Given the description of an element on the screen output the (x, y) to click on. 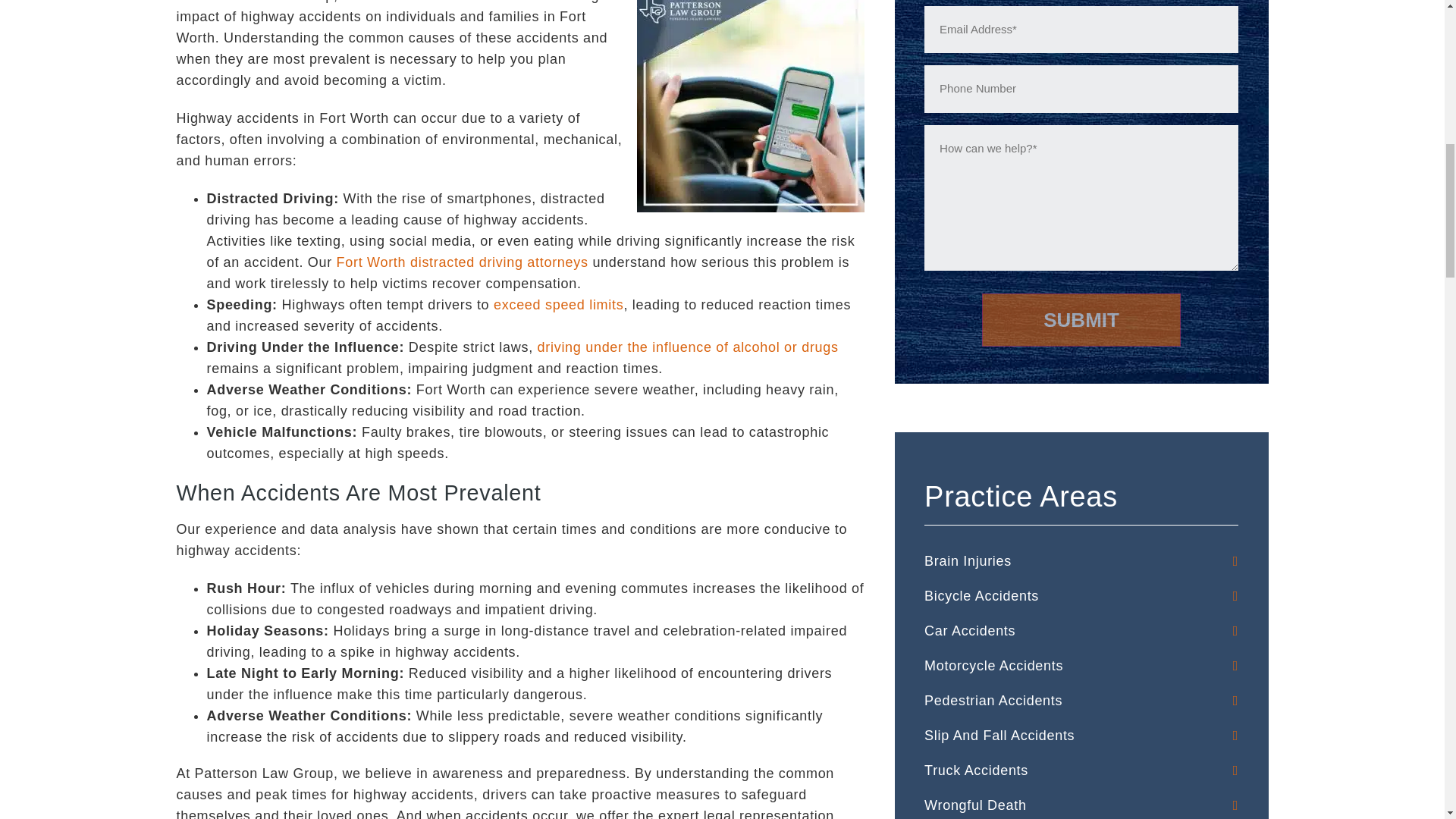
Submit (1080, 319)
